Given the description of an element on the screen output the (x, y) to click on. 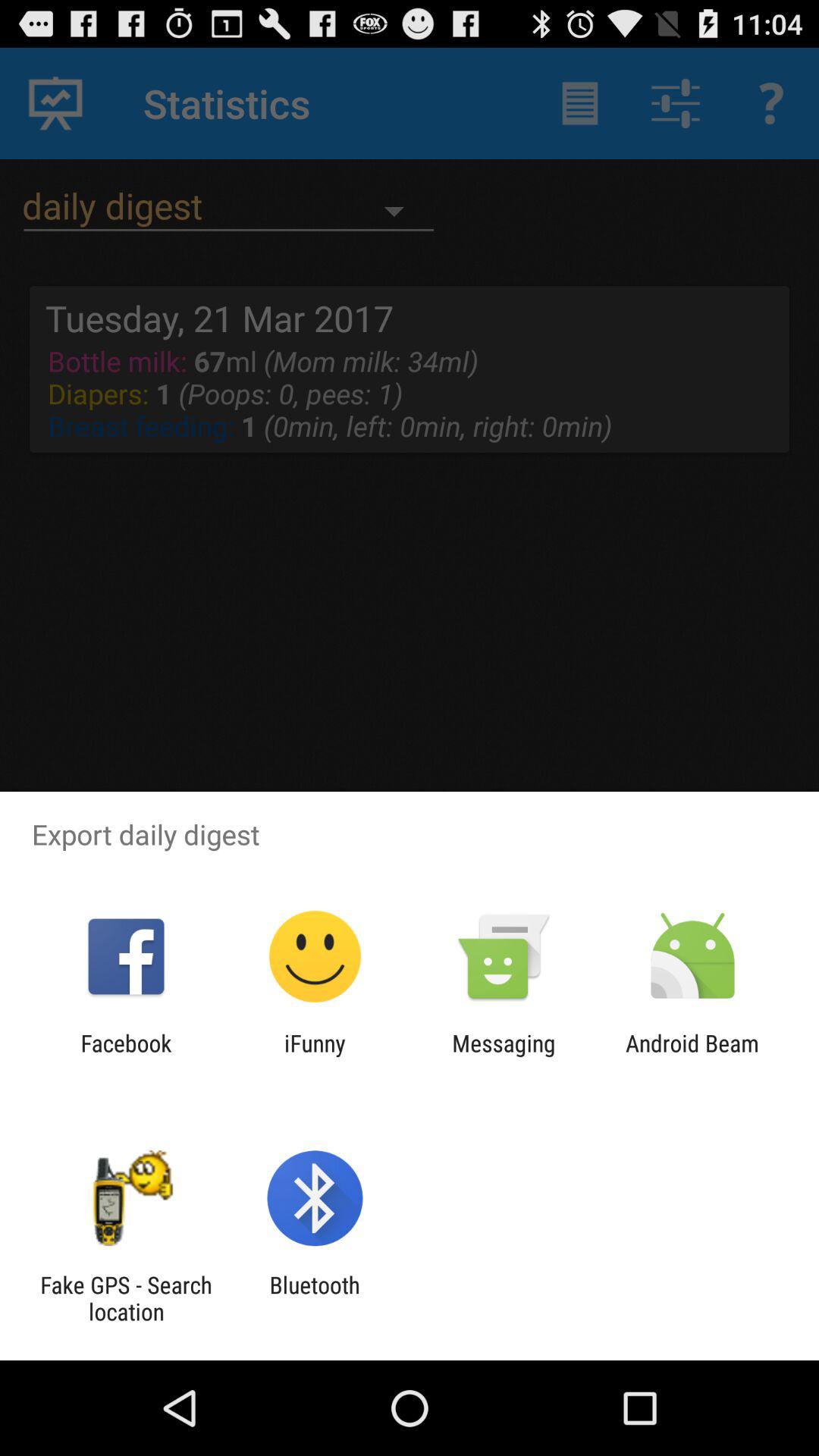
click bluetooth (314, 1298)
